Given the description of an element on the screen output the (x, y) to click on. 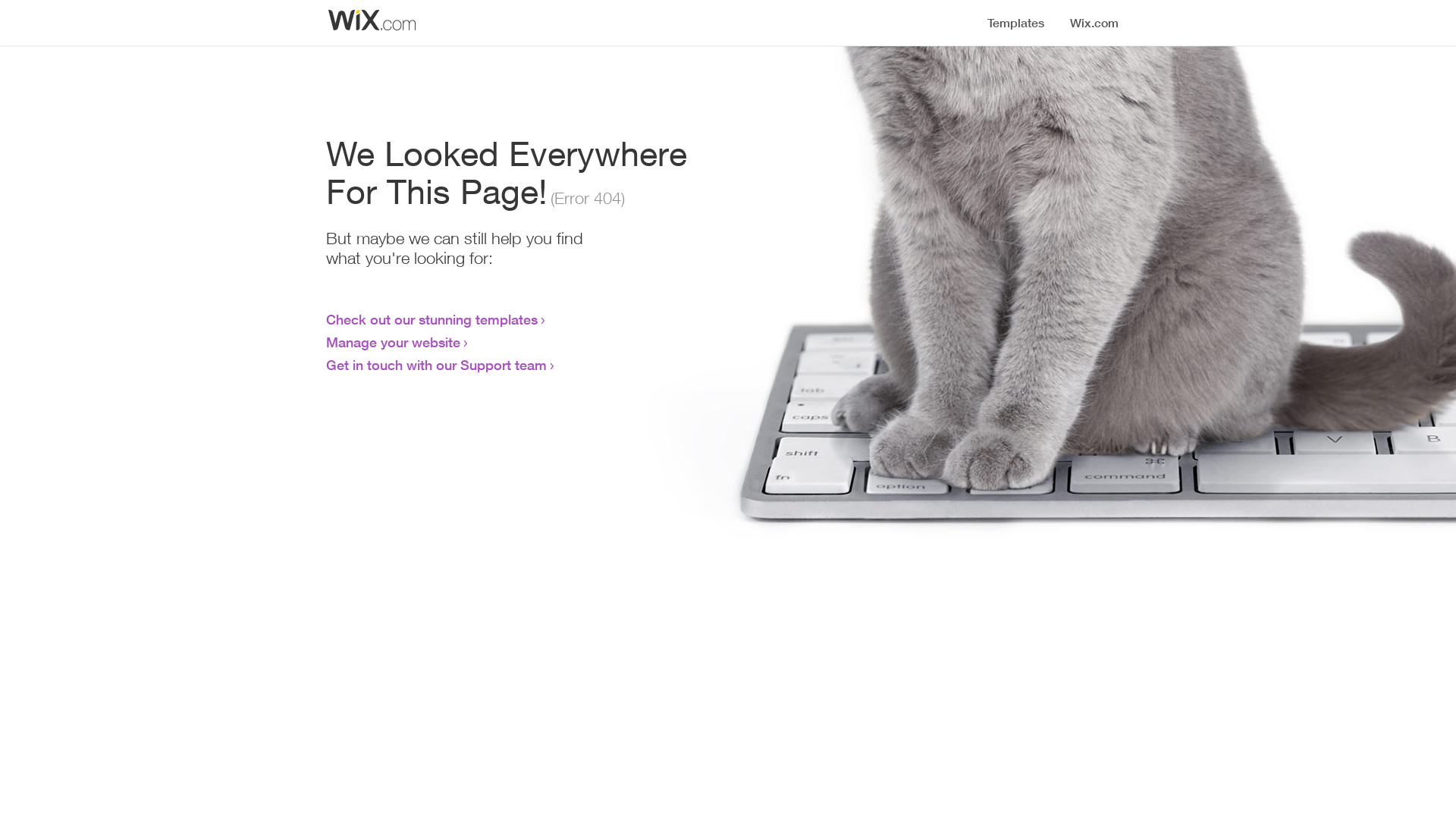
Get in touch with our Support team Element type: text (436, 364)
Manage your website Element type: text (393, 341)
Check out our stunning templates Element type: text (431, 318)
